Given the description of an element on the screen output the (x, y) to click on. 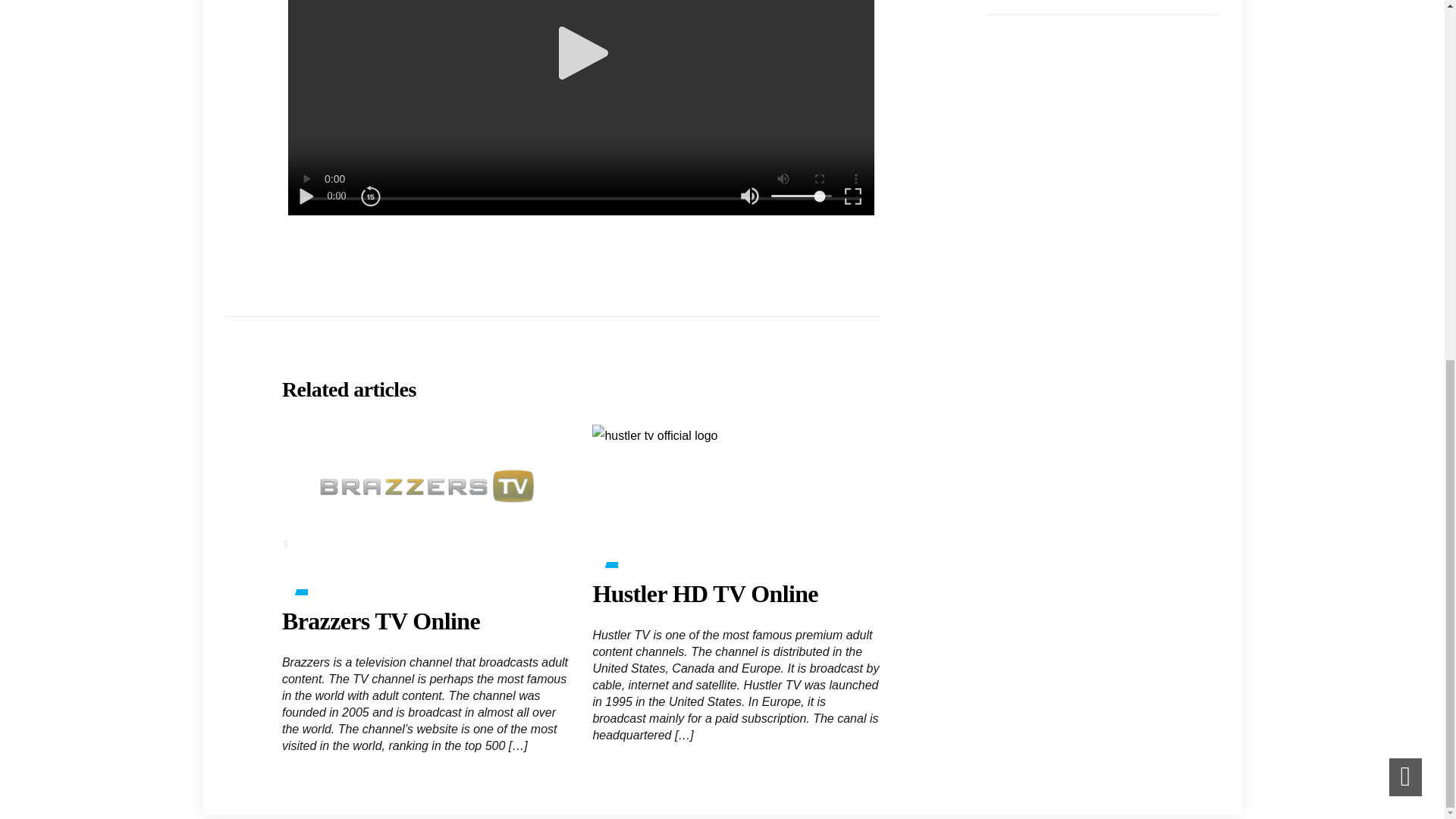
Hustler HD TV Online (704, 593)
Penthouse Passion TV Online (1058, 0)
Brazzers TV Online (381, 620)
